Given the description of an element on the screen output the (x, y) to click on. 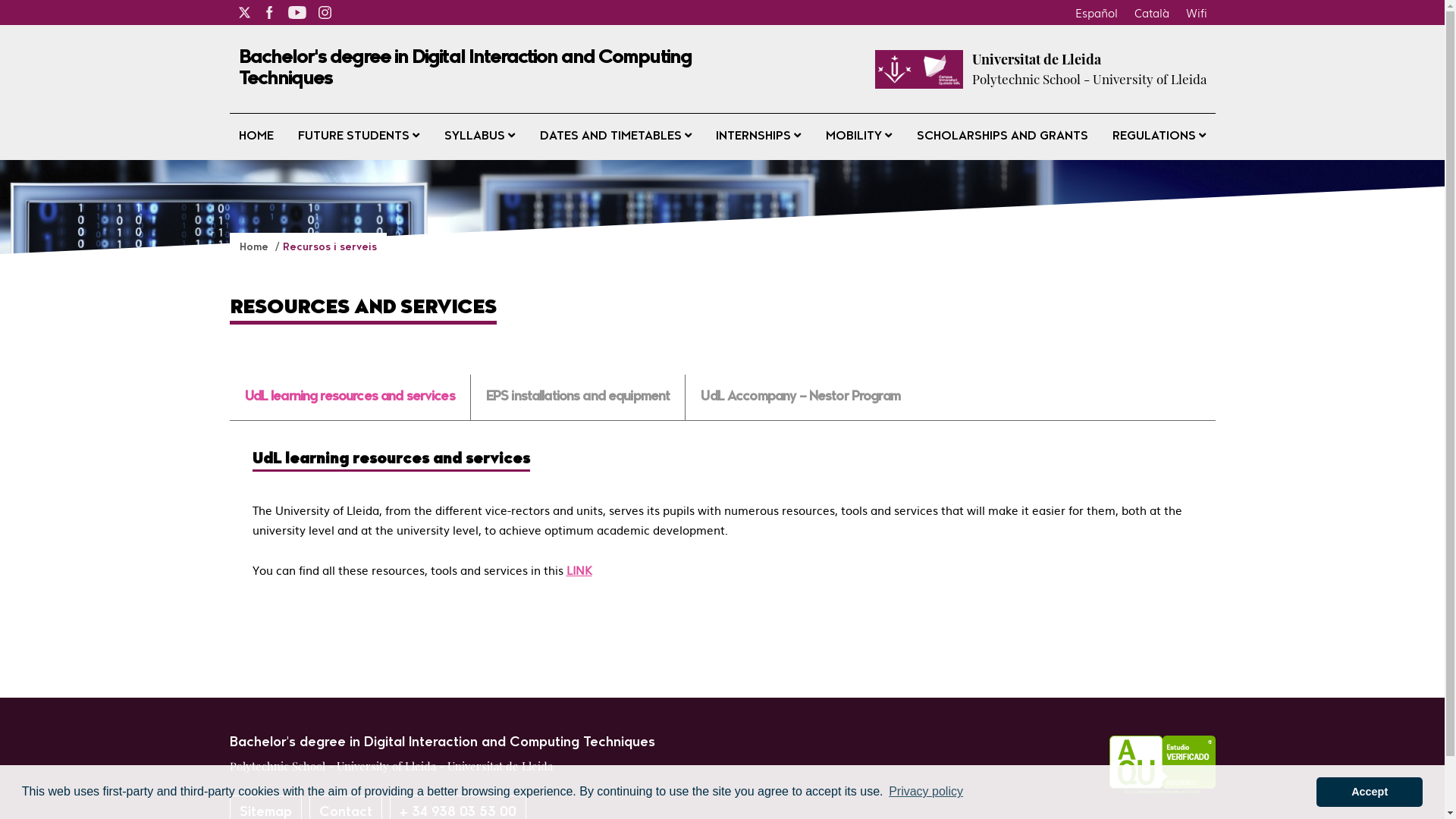
Home Element type: text (255, 247)
INTERNSHIPS Element type: text (757, 136)
FUTURE STUDENTS Element type: text (358, 136)
MOBILITY Element type: text (858, 136)
SCHOLARSHIPS AND GRANTS Element type: text (1002, 136)
Recursos i serveis Element type: text (329, 247)
Wifi Element type: text (1195, 12)
SYLLABUS Element type: text (479, 136)
Accept Element type: text (1369, 791)
LINK Element type: text (578, 569)
DATES AND TIMETABLES Element type: text (615, 136)
Privacy policy Element type: text (925, 791)
REGULATIONS Element type: text (1158, 136)
HOME Element type: text (255, 136)
